Given the description of an element on the screen output the (x, y) to click on. 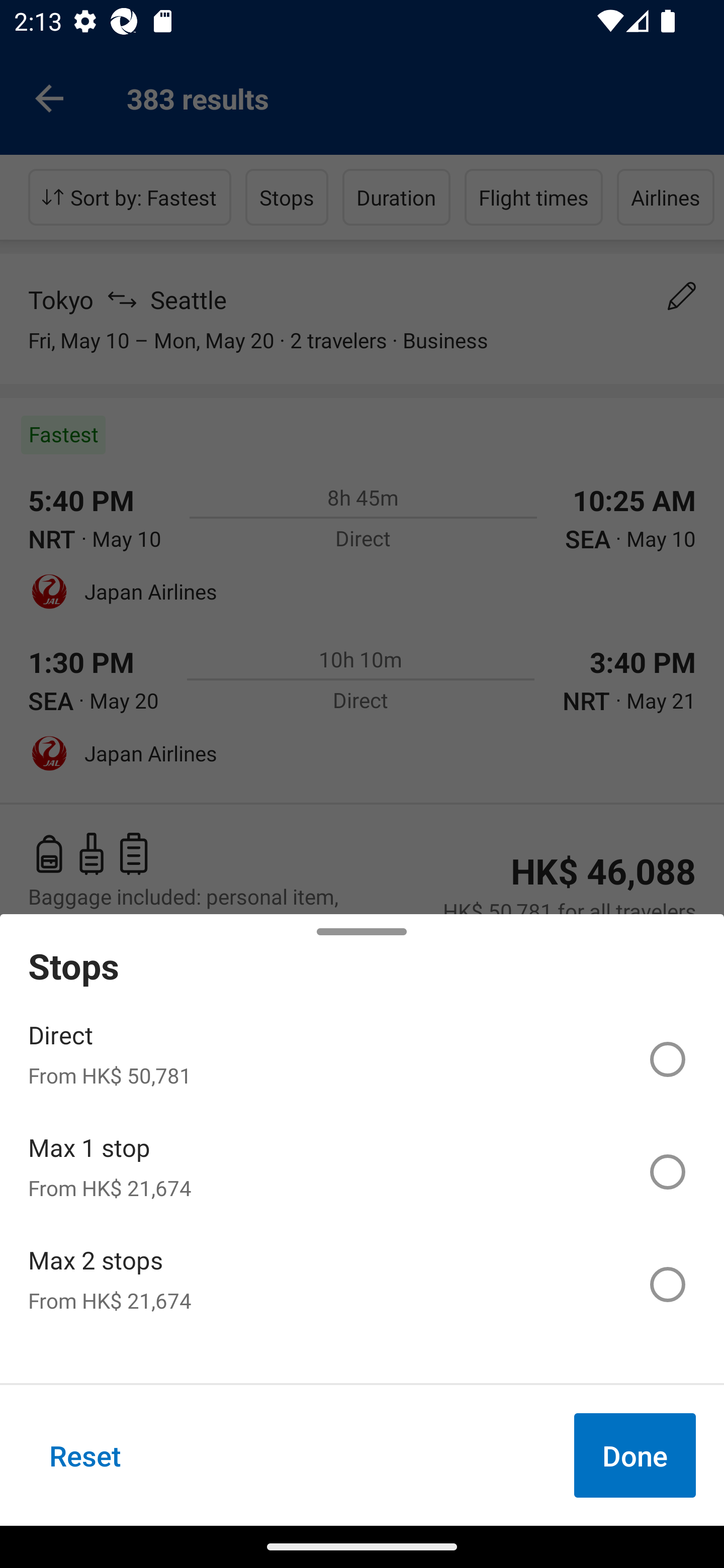
Direct From HK$ 50,781 (362, 1059)
Max 1 stop From HK$ 21,674 (362, 1171)
Max 2 stops From HK$ 21,674 (362, 1283)
Reset (85, 1454)
Done (634, 1454)
